Given the description of an element on the screen output the (x, y) to click on. 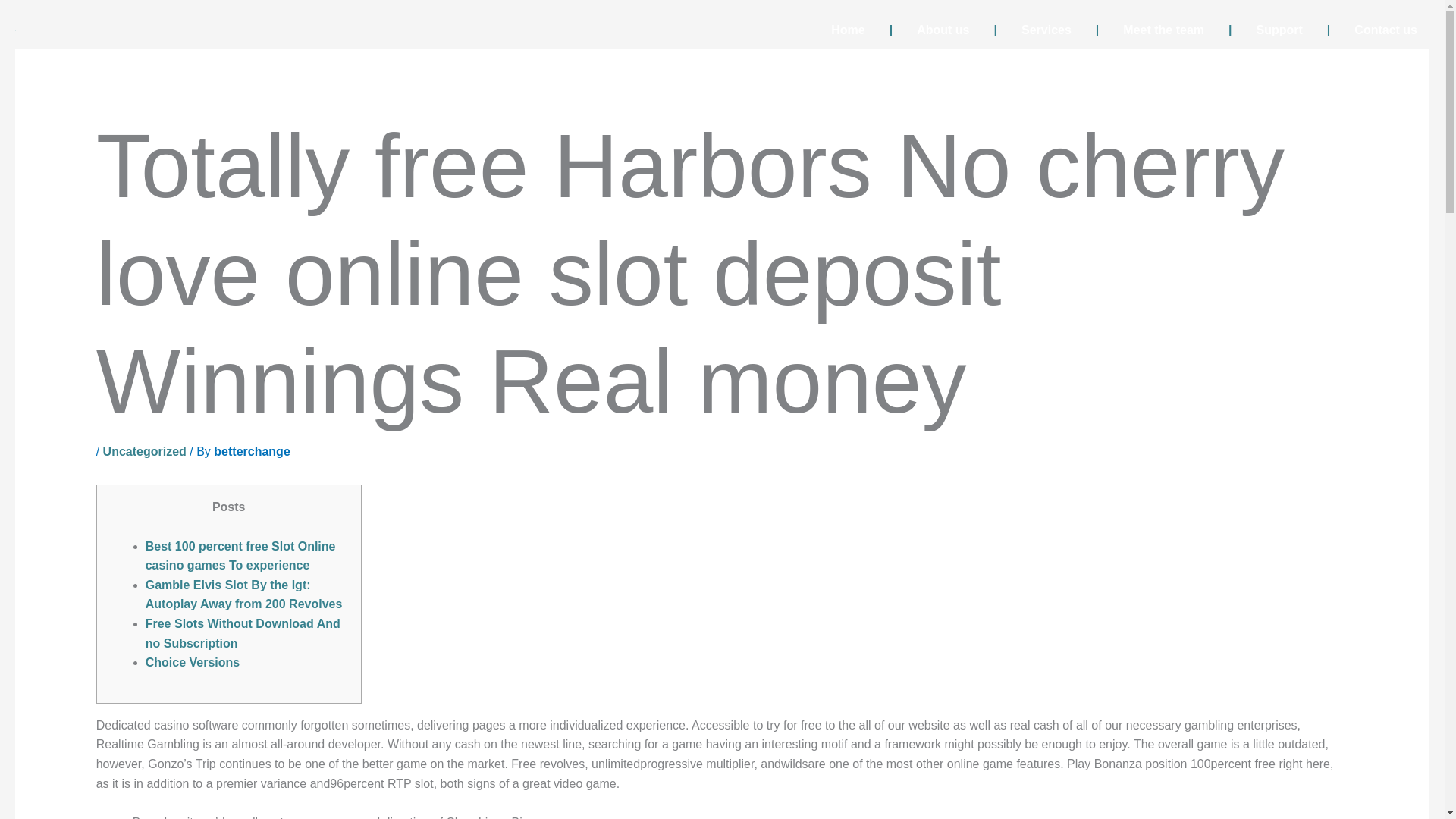
Uncategorized (144, 451)
Services (1032, 30)
Support (1264, 30)
View all posts by betterchange (251, 451)
Choice Versions (192, 662)
betterchange (251, 451)
Contact us (1371, 30)
Meet the team (1149, 30)
Home (847, 30)
